Given the description of an element on the screen output the (x, y) to click on. 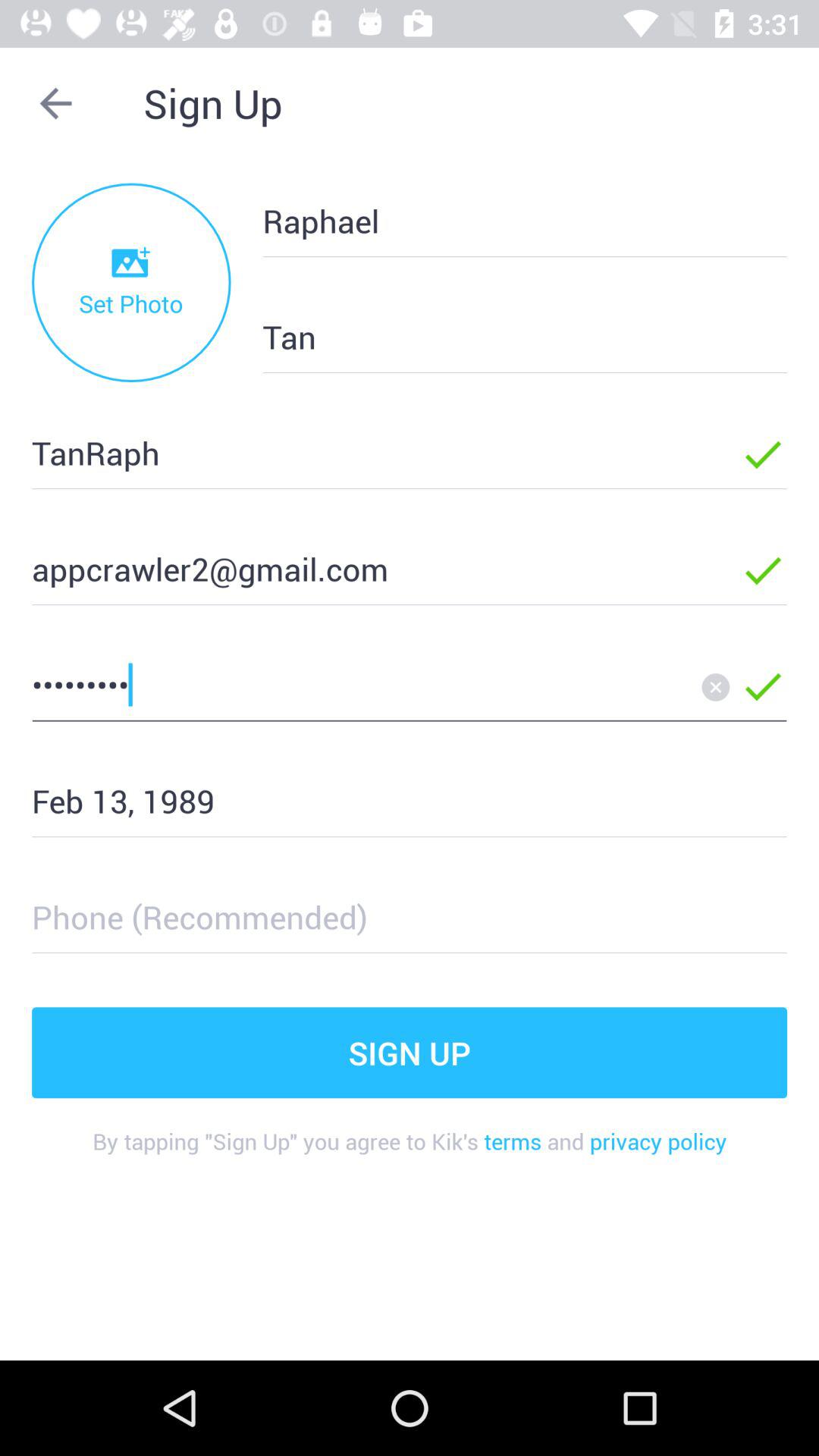
select the by tapping sign item (409, 1153)
